Given the description of an element on the screen output the (x, y) to click on. 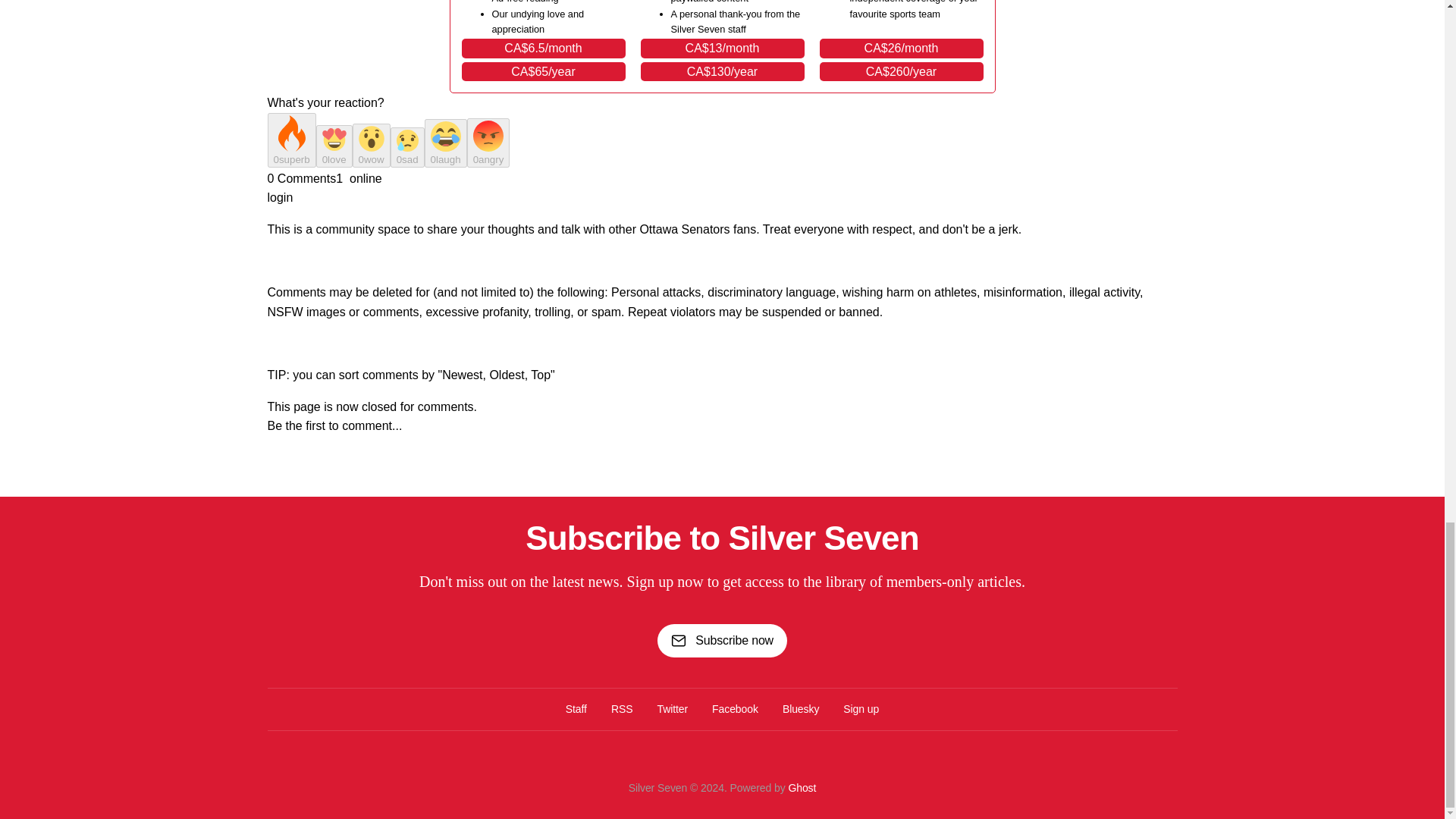
Subscribe now (722, 640)
RSS (622, 709)
Bluesky (800, 709)
Sign up (861, 709)
Ghost (801, 787)
Twitter (671, 709)
Staff (576, 709)
Facebook (734, 709)
